Given the description of an element on the screen output the (x, y) to click on. 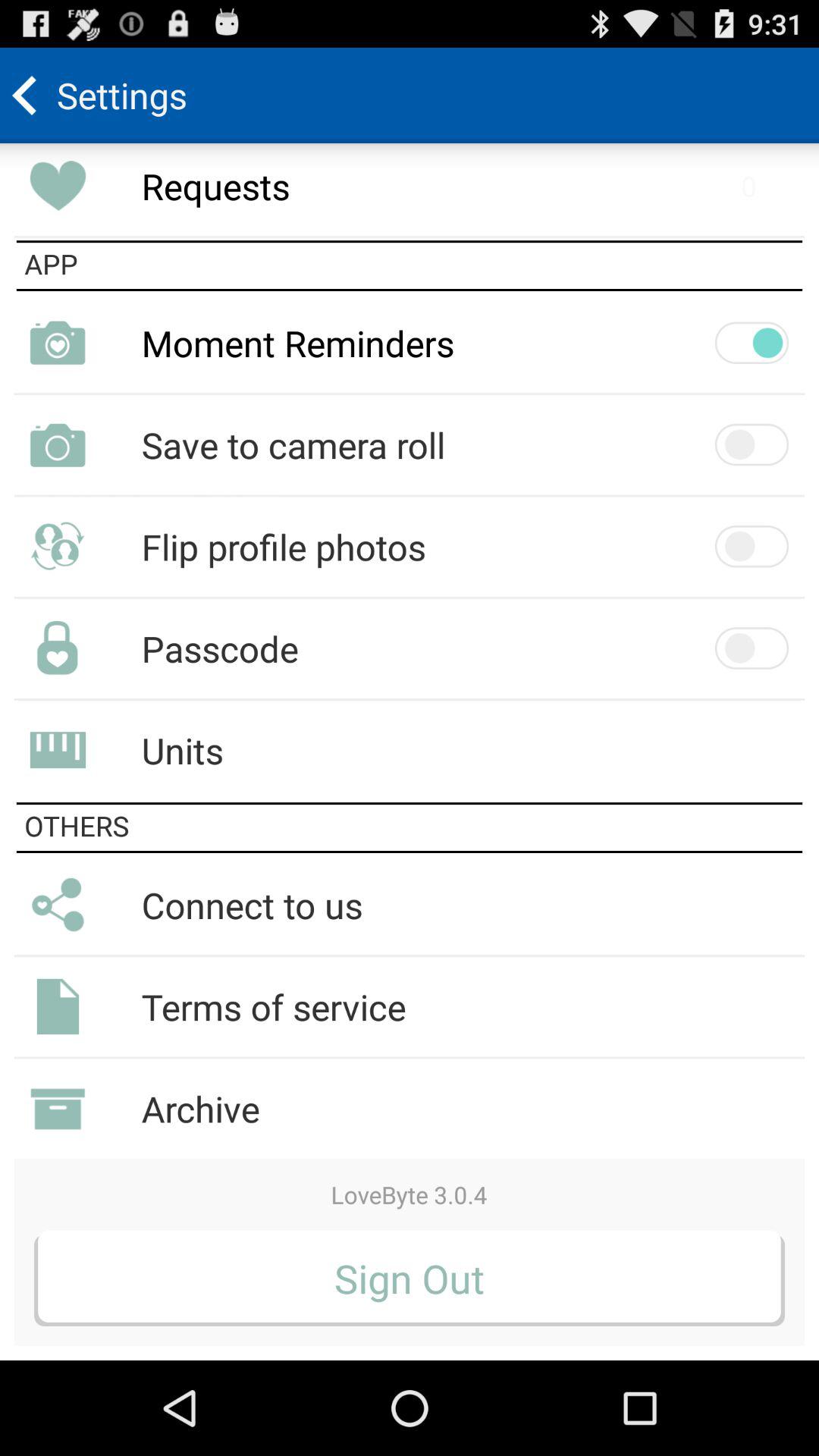
flip to sign out icon (409, 1278)
